Given the description of an element on the screen output the (x, y) to click on. 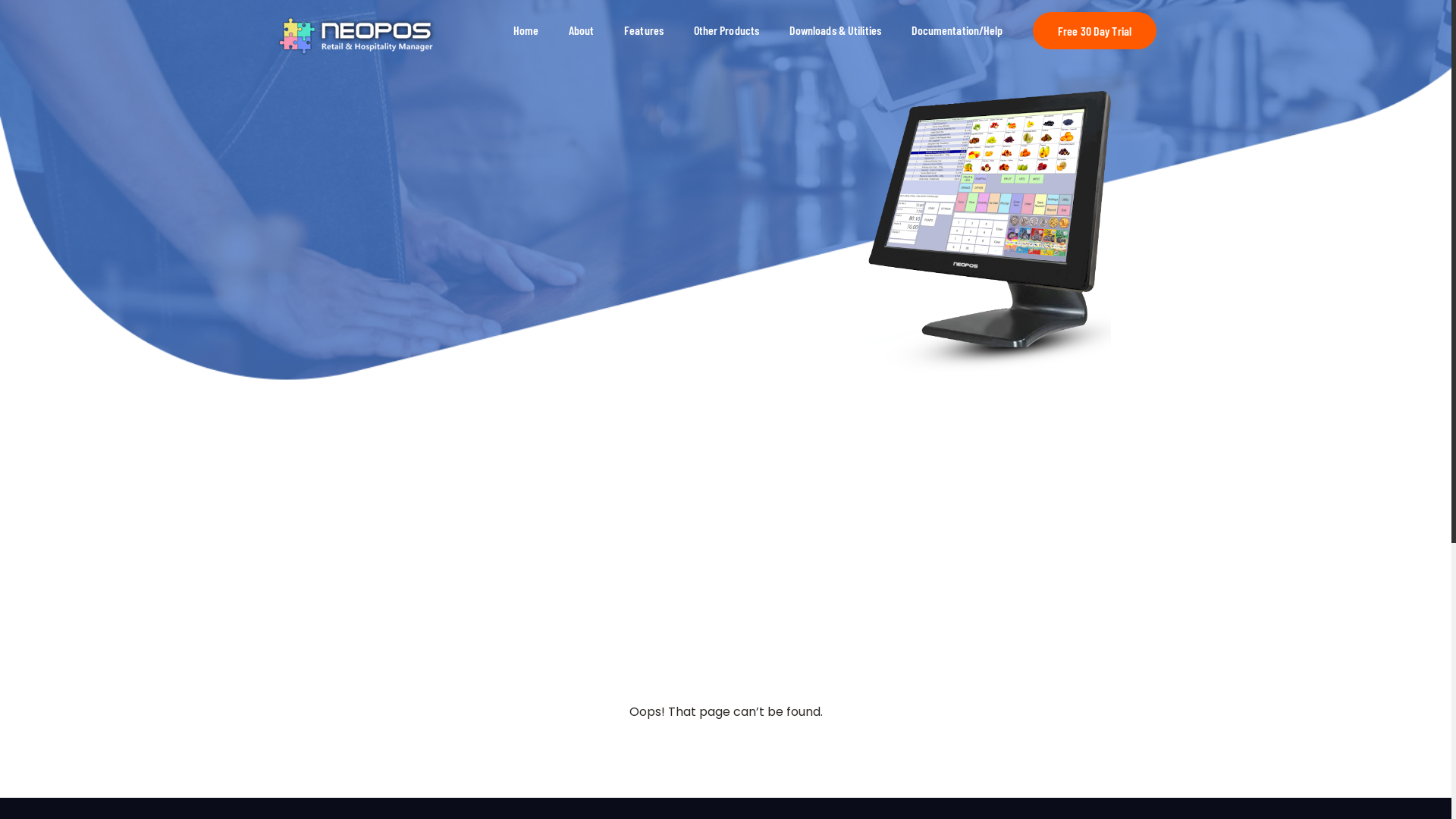
Free 30 Day Trial Element type: text (1094, 30)
Documentation/Help Element type: text (957, 29)
Home Element type: text (525, 29)
Features Element type: text (643, 29)
About Element type: text (581, 29)
Downloads & Utilities Element type: text (835, 29)
Other Products Element type: text (726, 29)
